Given the description of an element on the screen output the (x, y) to click on. 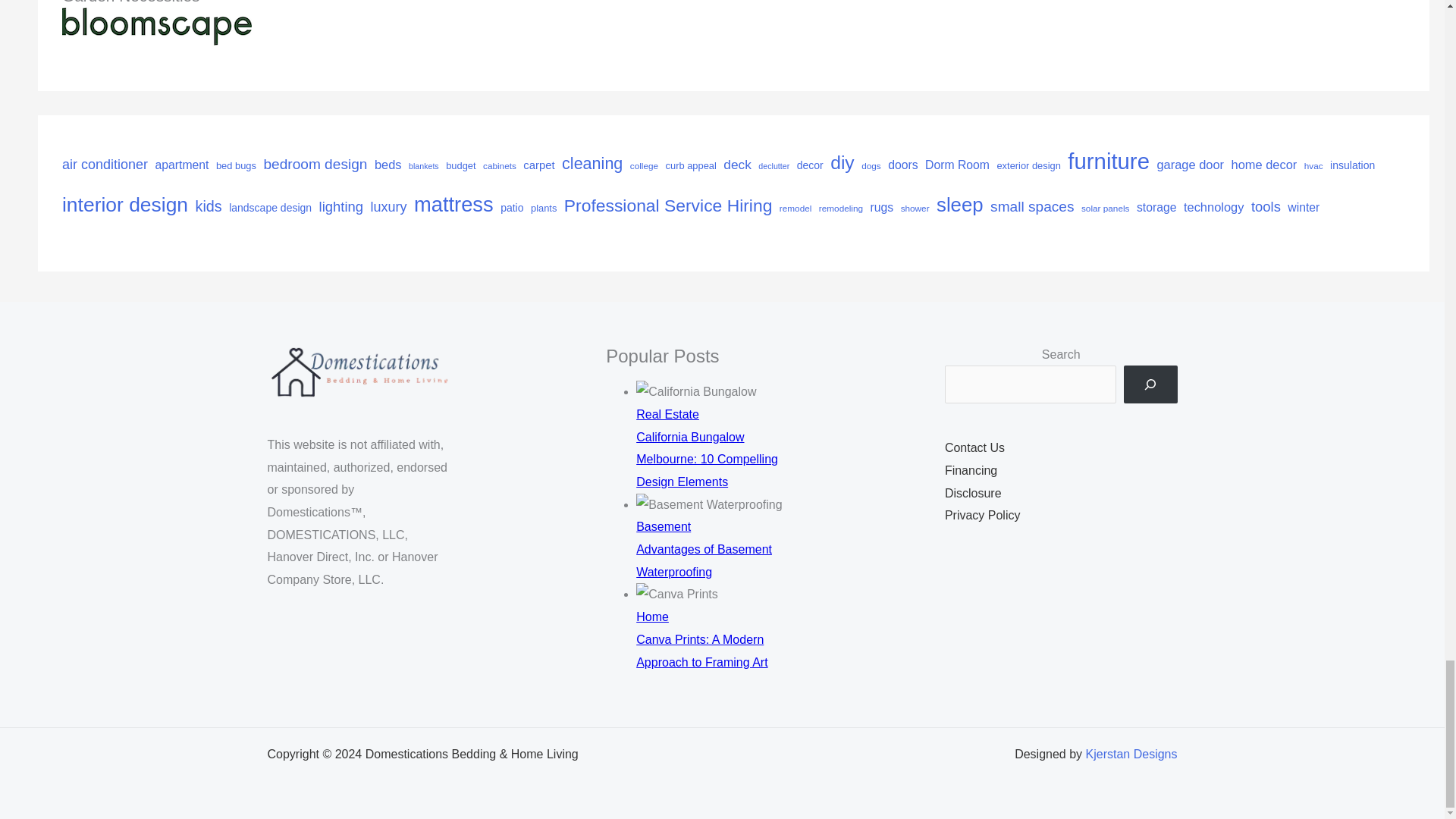
Bloomscape Logo 2 (156, 24)
